Given the description of an element on the screen output the (x, y) to click on. 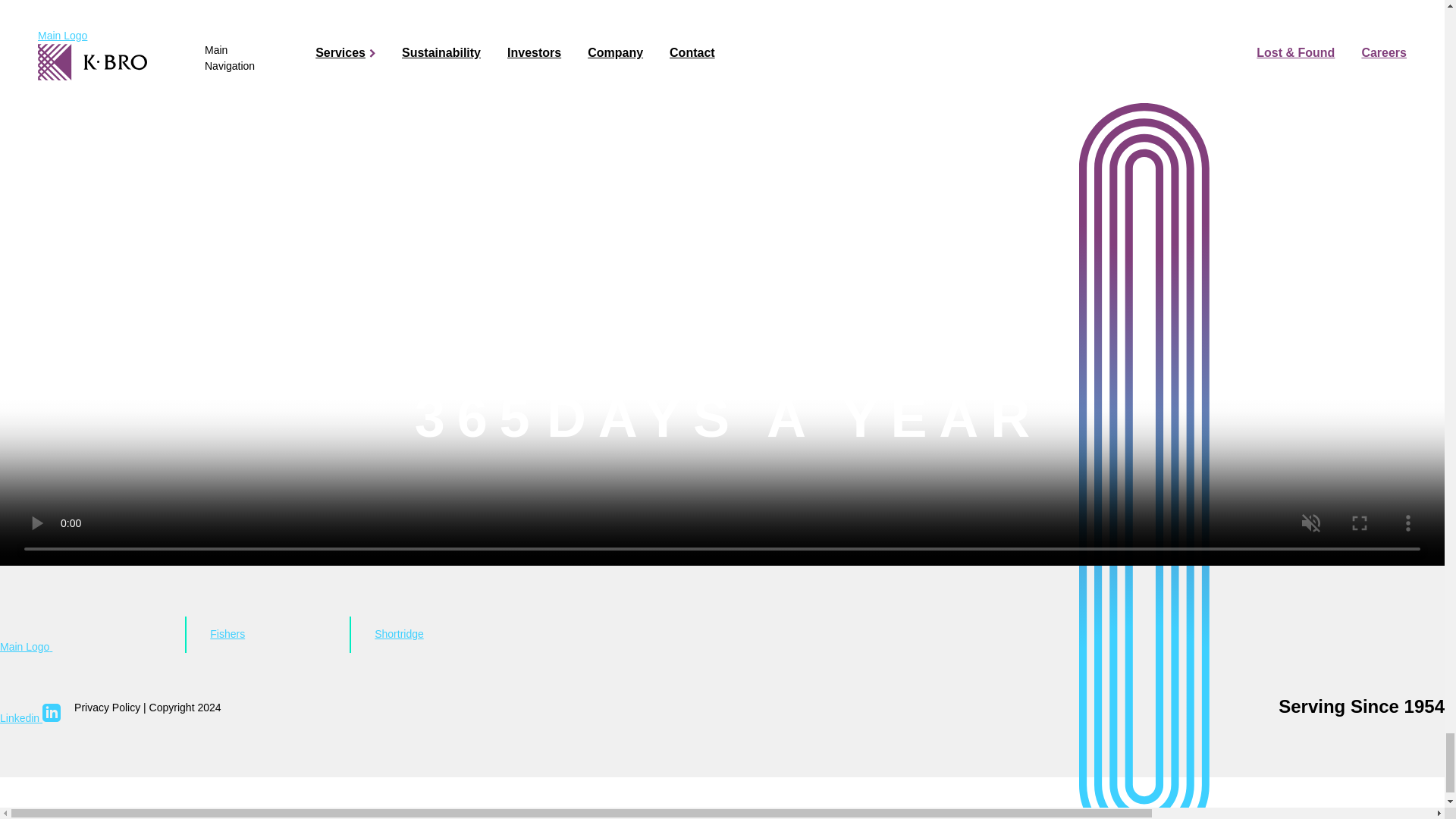
Copyright (172, 707)
Shortridge (445, 634)
Main Logo (80, 634)
Fishers (267, 634)
Shortridge (445, 634)
K-Bro (80, 634)
Linkedin (30, 717)
Fishers (267, 634)
Privacy Policy (106, 707)
